Given the description of an element on the screen output the (x, y) to click on. 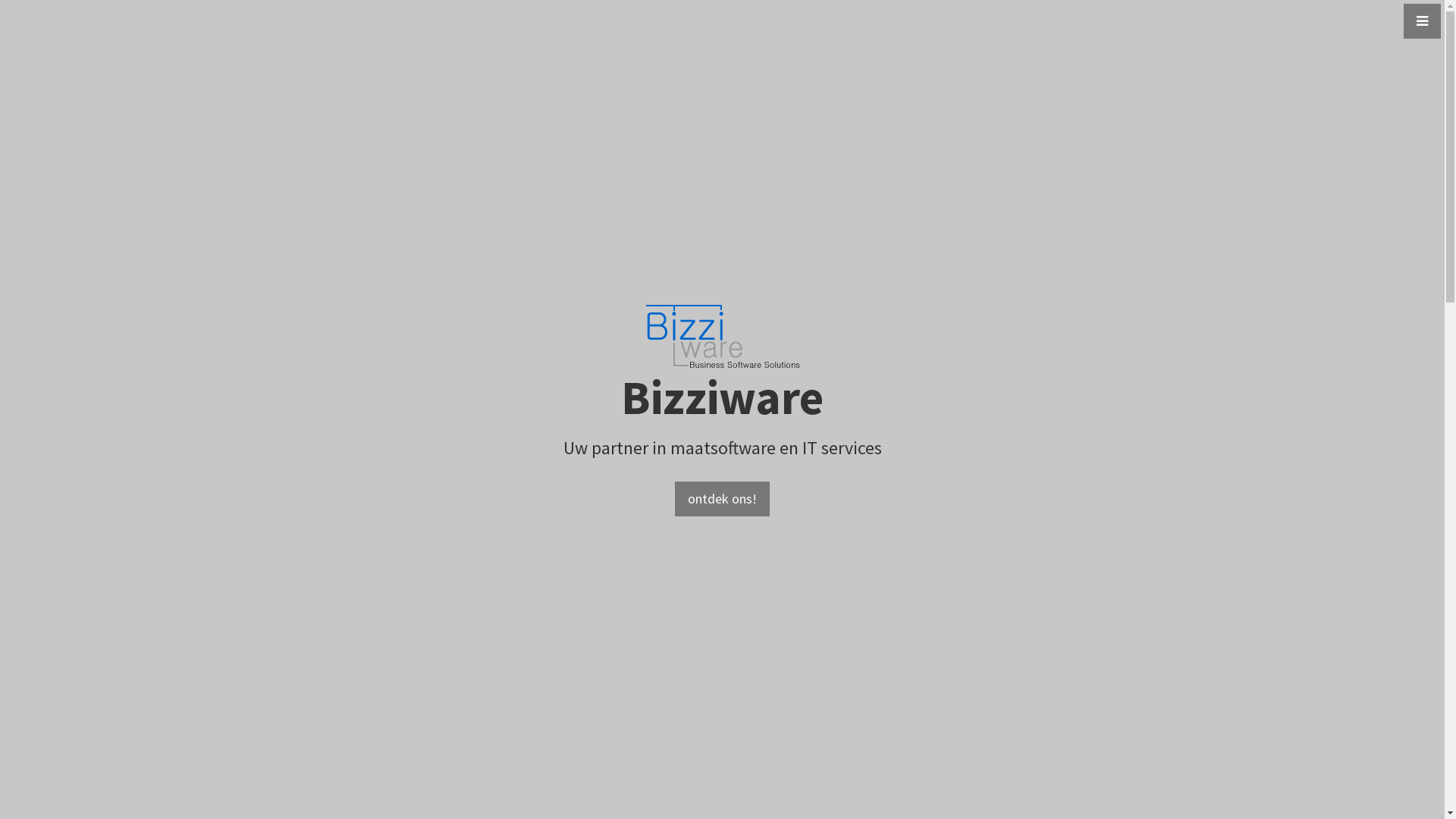
ontdek ons! Element type: text (721, 498)
